Given the description of an element on the screen output the (x, y) to click on. 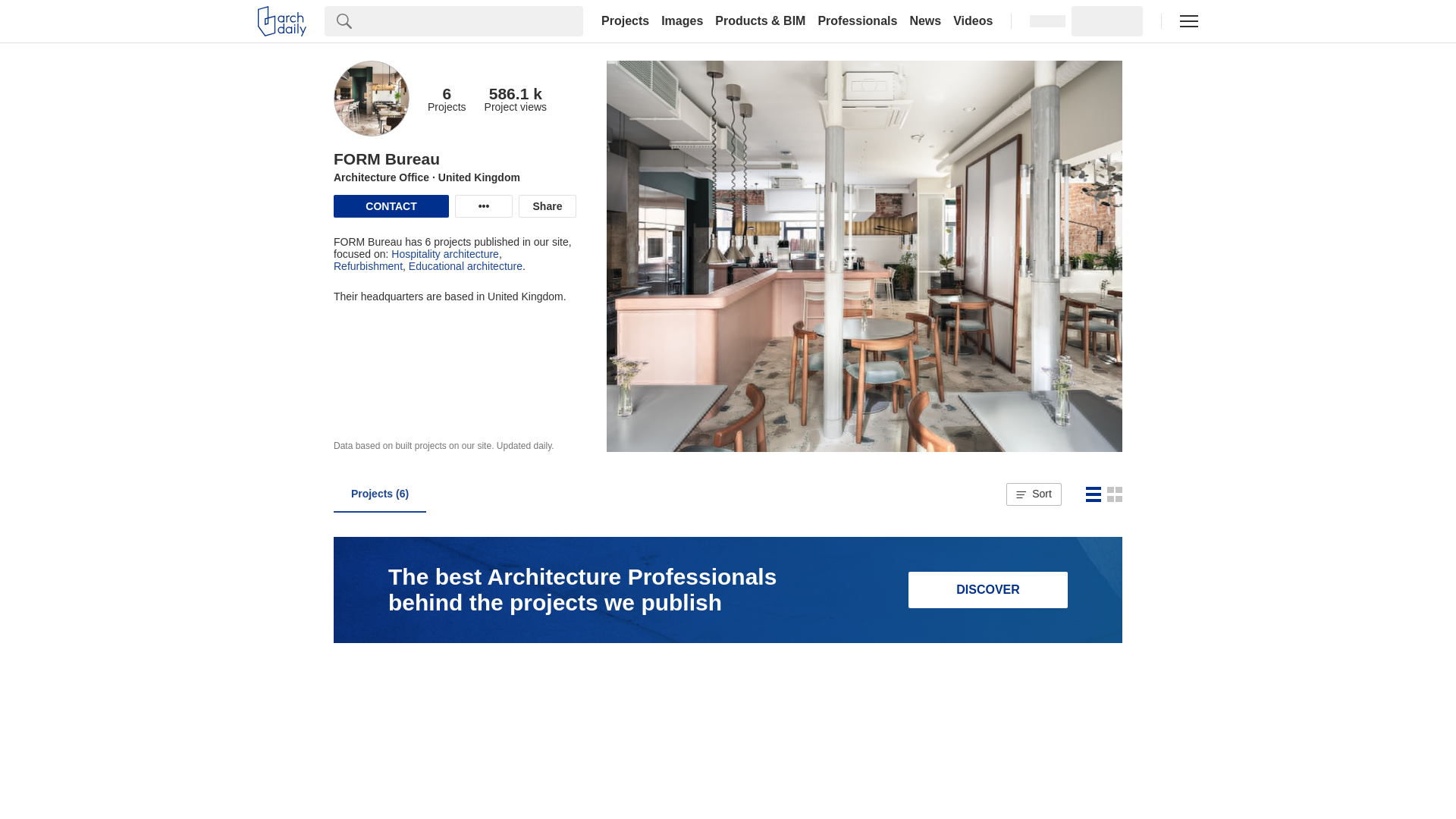
Professionals (856, 21)
Videos (972, 21)
News (924, 21)
Projects (625, 21)
Images (682, 21)
